Given the description of an element on the screen output the (x, y) to click on. 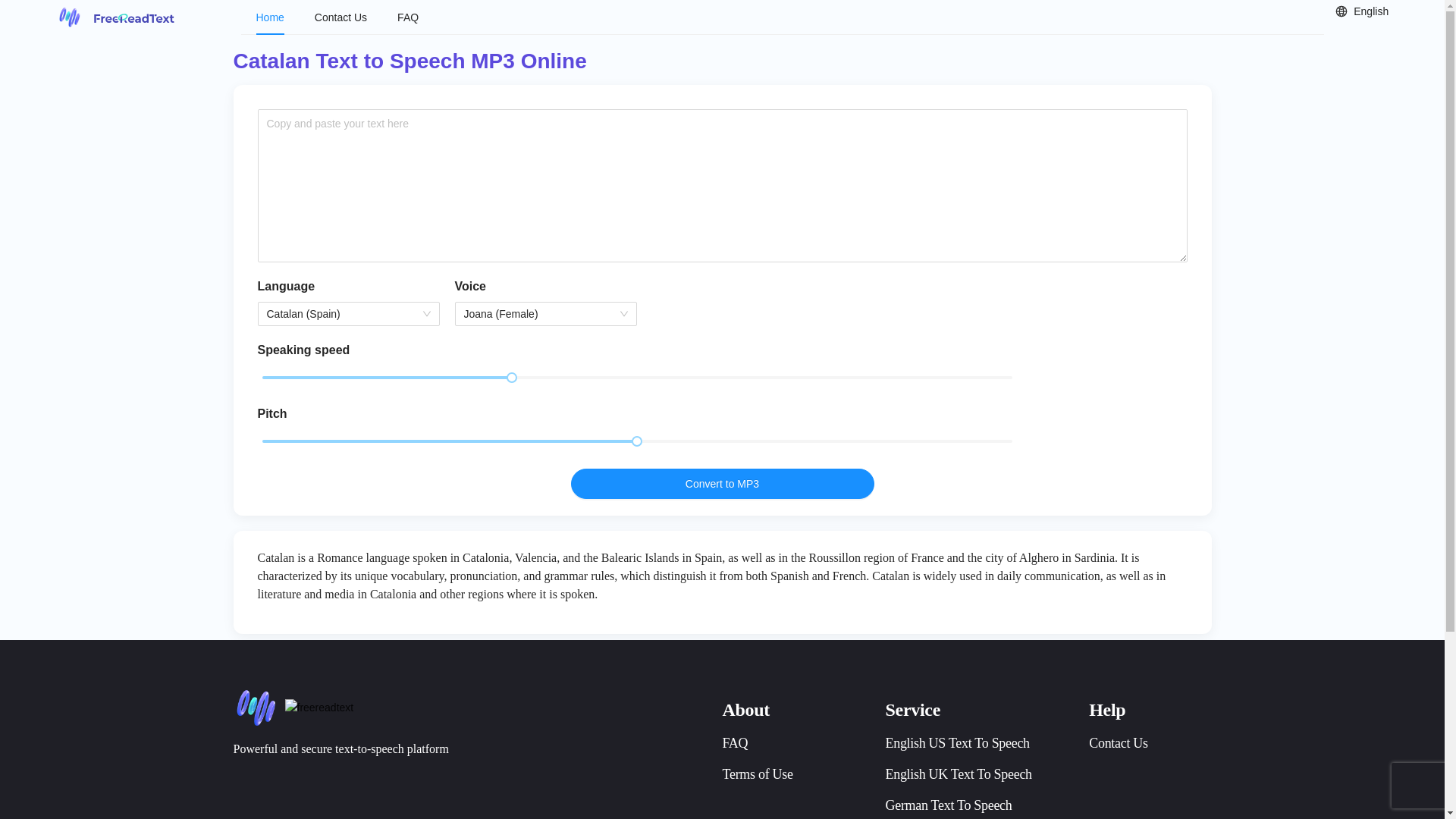
German Text To Speech (948, 805)
Home (269, 17)
English UK Text To Speech (958, 774)
Contact Us (340, 17)
English (1361, 12)
Convert to MP3 (721, 483)
FAQ (408, 17)
English US Text To Speech (957, 743)
FAQ (735, 743)
Contact Us (1118, 743)
